Given the description of an element on the screen output the (x, y) to click on. 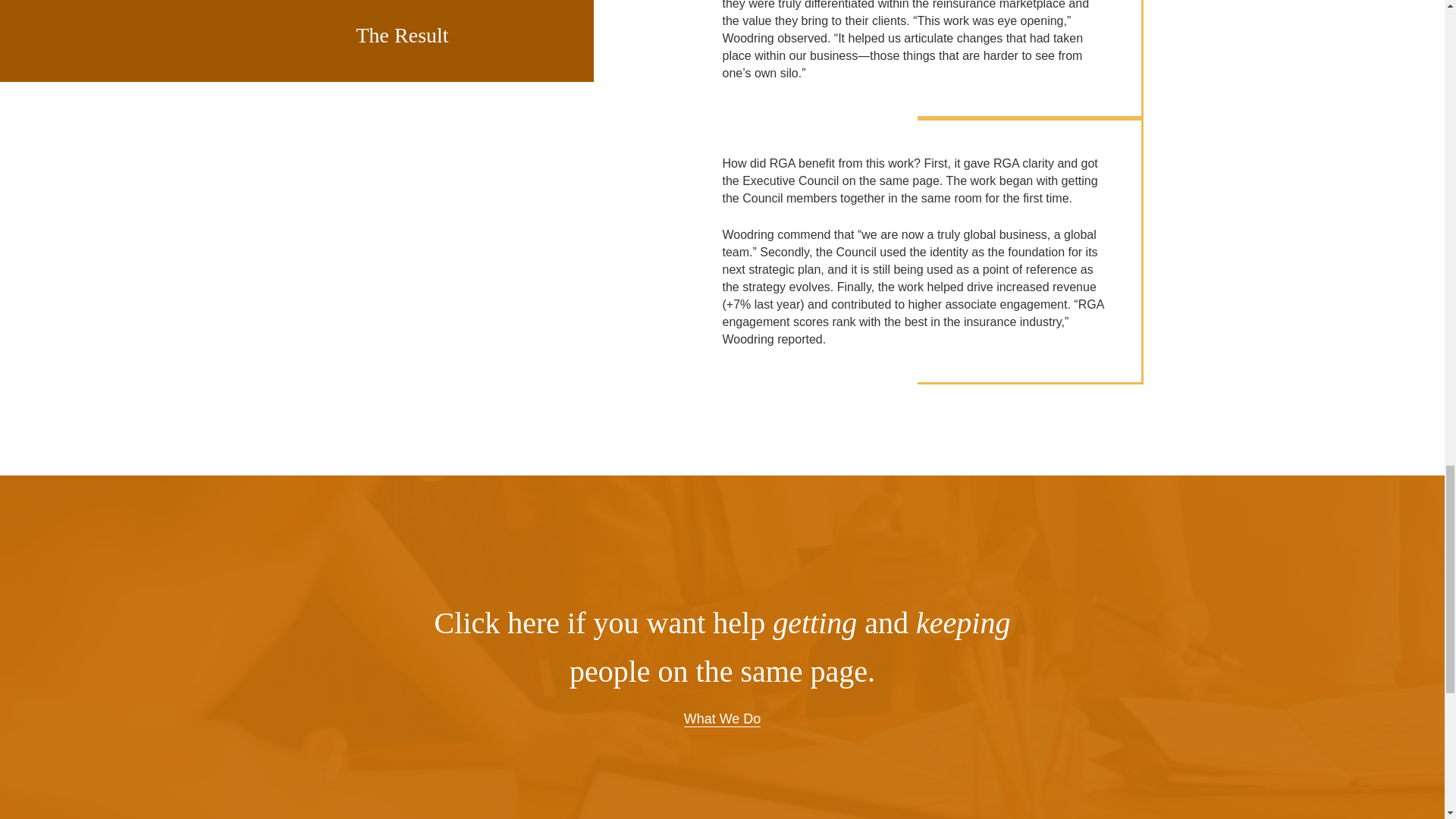
The Result (446, 41)
